Given the description of an element on the screen output the (x, y) to click on. 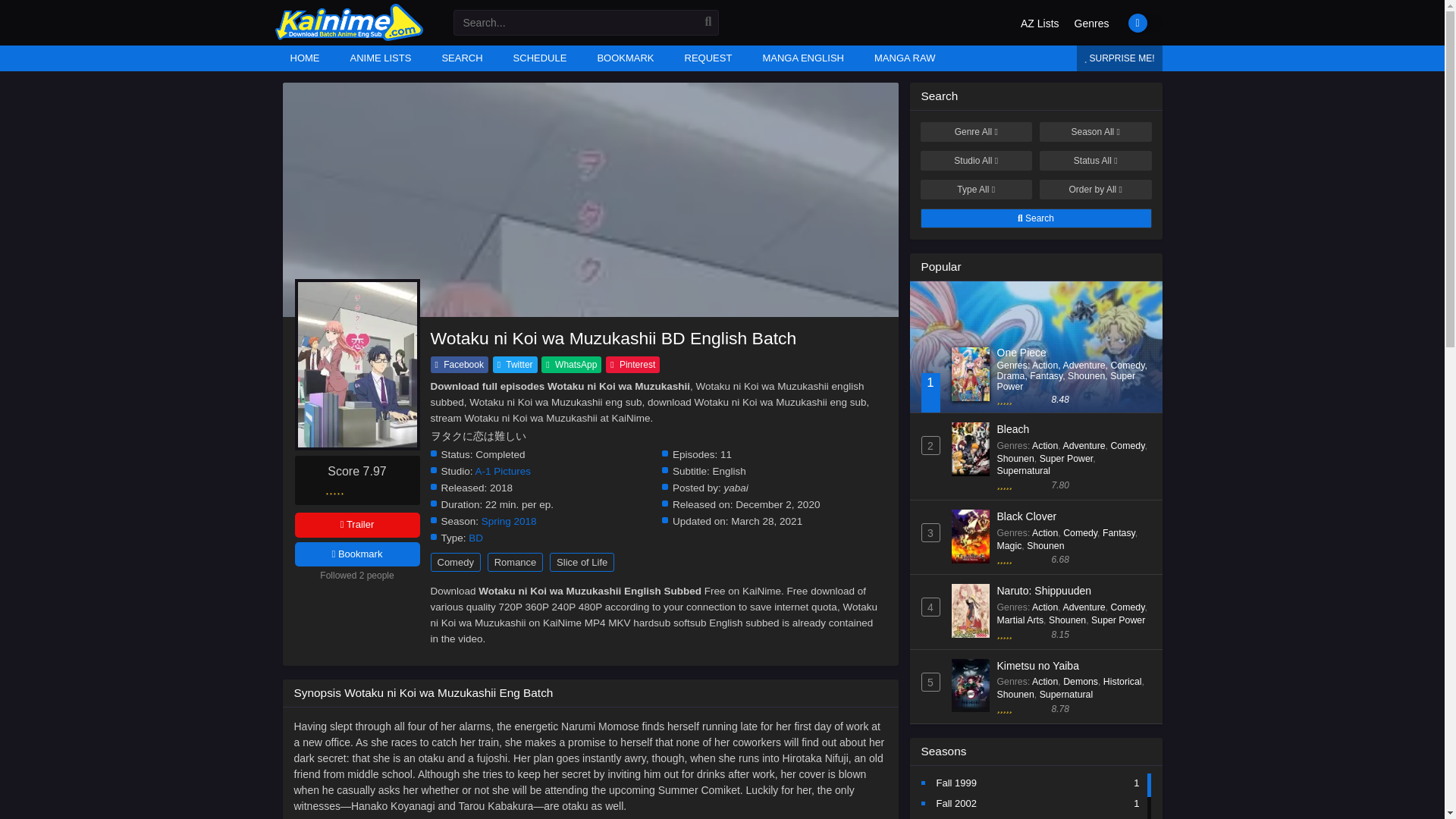
BD (475, 537)
MANGA ENGLISH (802, 58)
Genres (1091, 23)
REQUEST (708, 58)
Comedy (455, 561)
WhatsApp (571, 364)
MANGA RAW (904, 58)
View all series in Fall 1999 (955, 782)
Trailer (356, 524)
ANIME LISTS (380, 58)
AZ Lists (1040, 23)
A-1 Pictures (503, 471)
SURPRISE ME! (1119, 58)
KaiNime - Download Anime Batch Eng Sub (348, 37)
Slice of Life (582, 561)
